Given the description of an element on the screen output the (x, y) to click on. 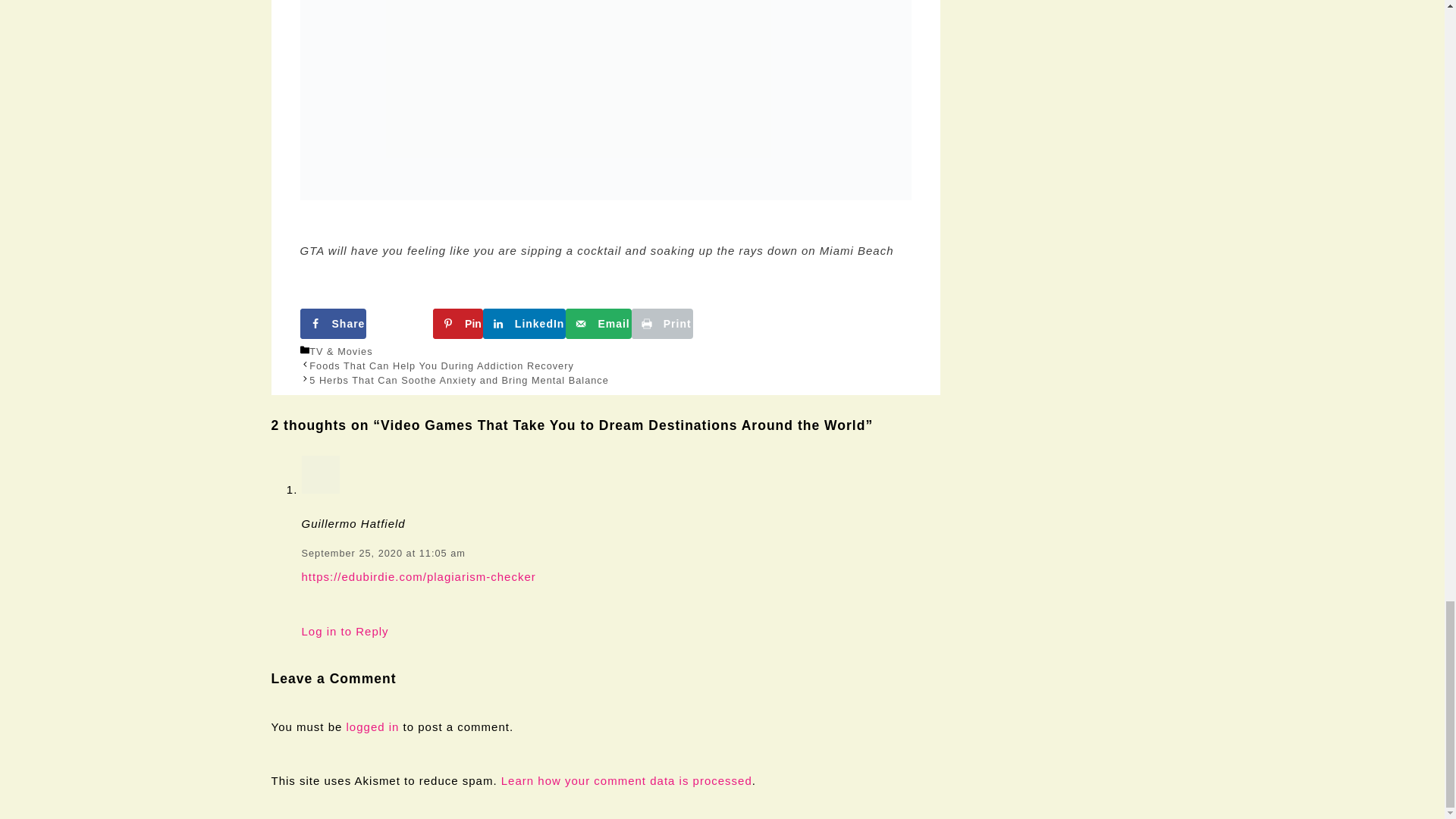
Print this webpage (662, 323)
Send over email (598, 323)
Share on LinkedIn (524, 323)
Share on Facebook (332, 323)
Save to Pinterest (457, 323)
Share on X (399, 323)
